Given the description of an element on the screen output the (x, y) to click on. 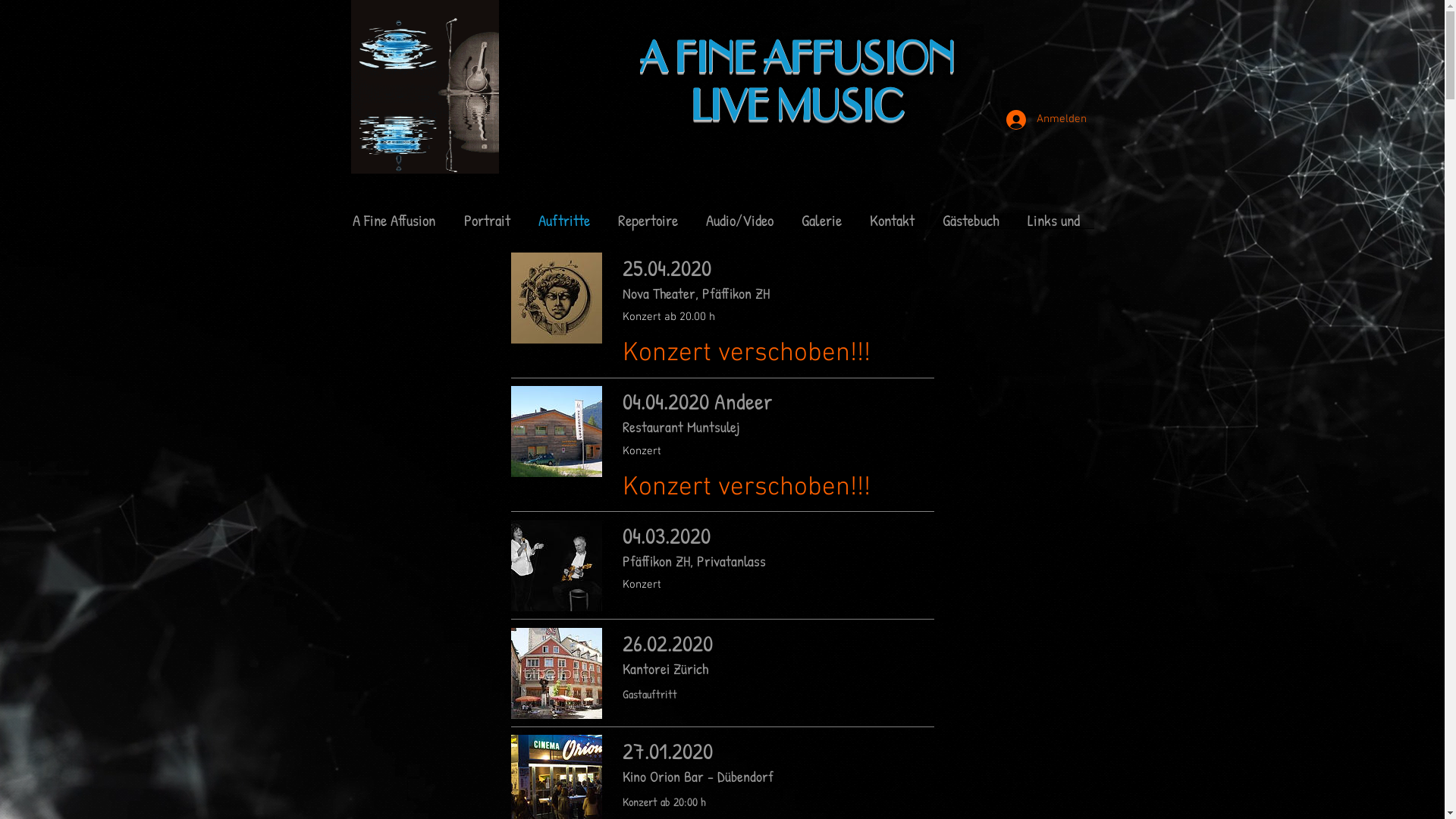
Muntsulej.jpg Element type: hover (556, 430)
Auftritte Element type: text (564, 225)
Kontakt Element type: text (891, 225)
Nova Theater.jpeg Element type: hover (556, 297)
Band_farbig_2.jpg Element type: hover (556, 565)
Portrait Element type: text (486, 225)
Anmelden Element type: text (1039, 119)
A Fine Affusion Element type: text (393, 225)
Audio/Video Element type: text (739, 225)
Galerie Element type: text (821, 225)
Repertoire Element type: text (647, 225)
Kantorei.jpeg Element type: hover (556, 672)
Links und Element type: text (1053, 225)
